Given the description of an element on the screen output the (x, y) to click on. 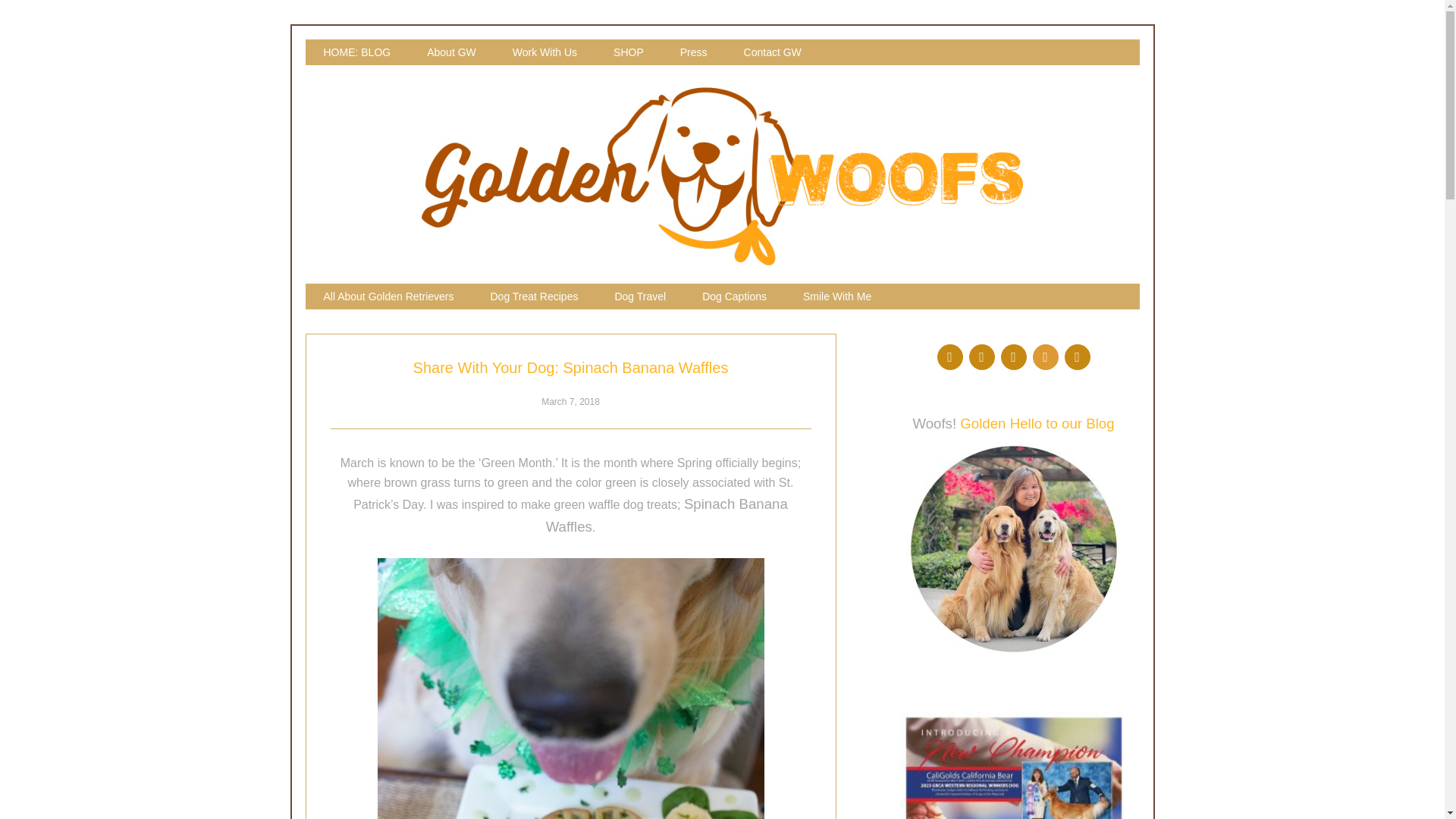
Dog Travel (639, 296)
x (1045, 355)
Golden Woofs : Sugar the Golden Retriever (722, 261)
HOME: BLOG (356, 52)
instagram (981, 355)
Spinach Banana Waffles (570, 688)
All About Golden Retrievers (387, 296)
pinterest (1013, 355)
Contact GW (772, 52)
facebook (949, 355)
Smile With Me (836, 296)
Press (693, 52)
About GW (452, 52)
youtube (1077, 355)
Golden Hello to our Blog (1036, 423)
